Given the description of an element on the screen output the (x, y) to click on. 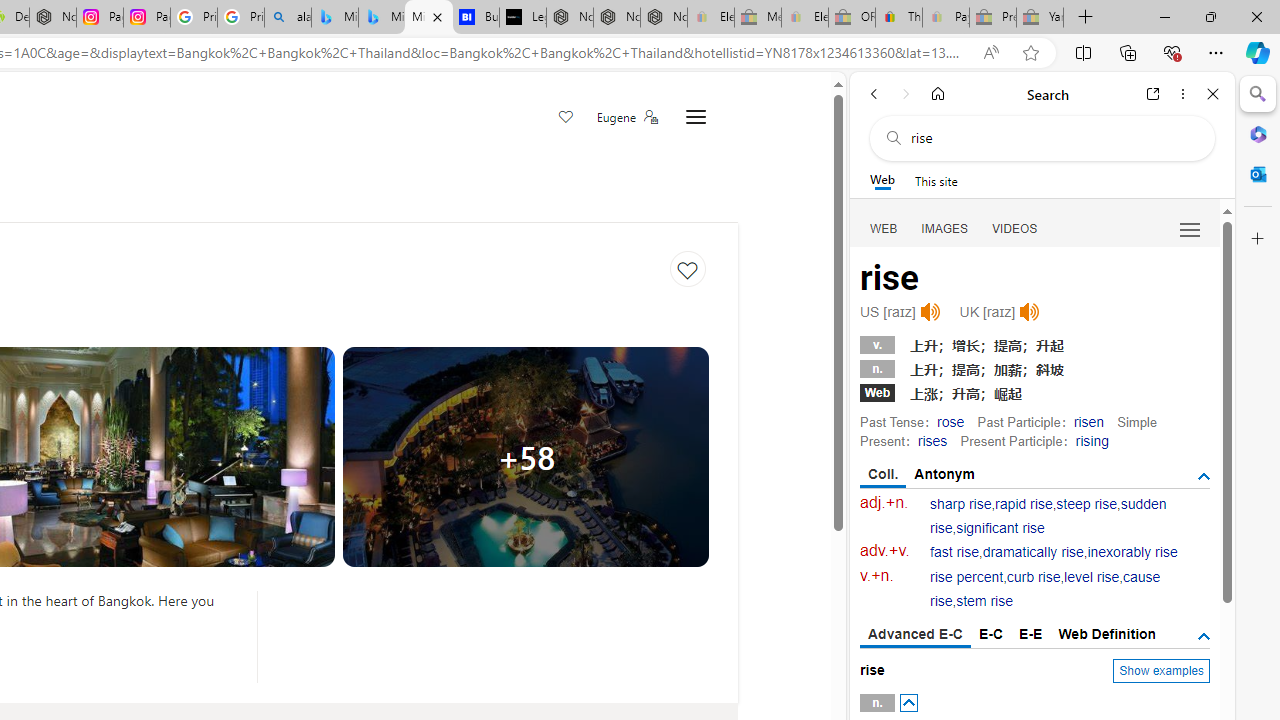
Antonym (945, 473)
Microsoft Bing Travel - Shangri-La Hotel Bangkok (428, 17)
Coll. (883, 475)
cause rise (1045, 589)
rose (950, 421)
rises (932, 440)
Save to collections (687, 269)
